Given the description of an element on the screen output the (x, y) to click on. 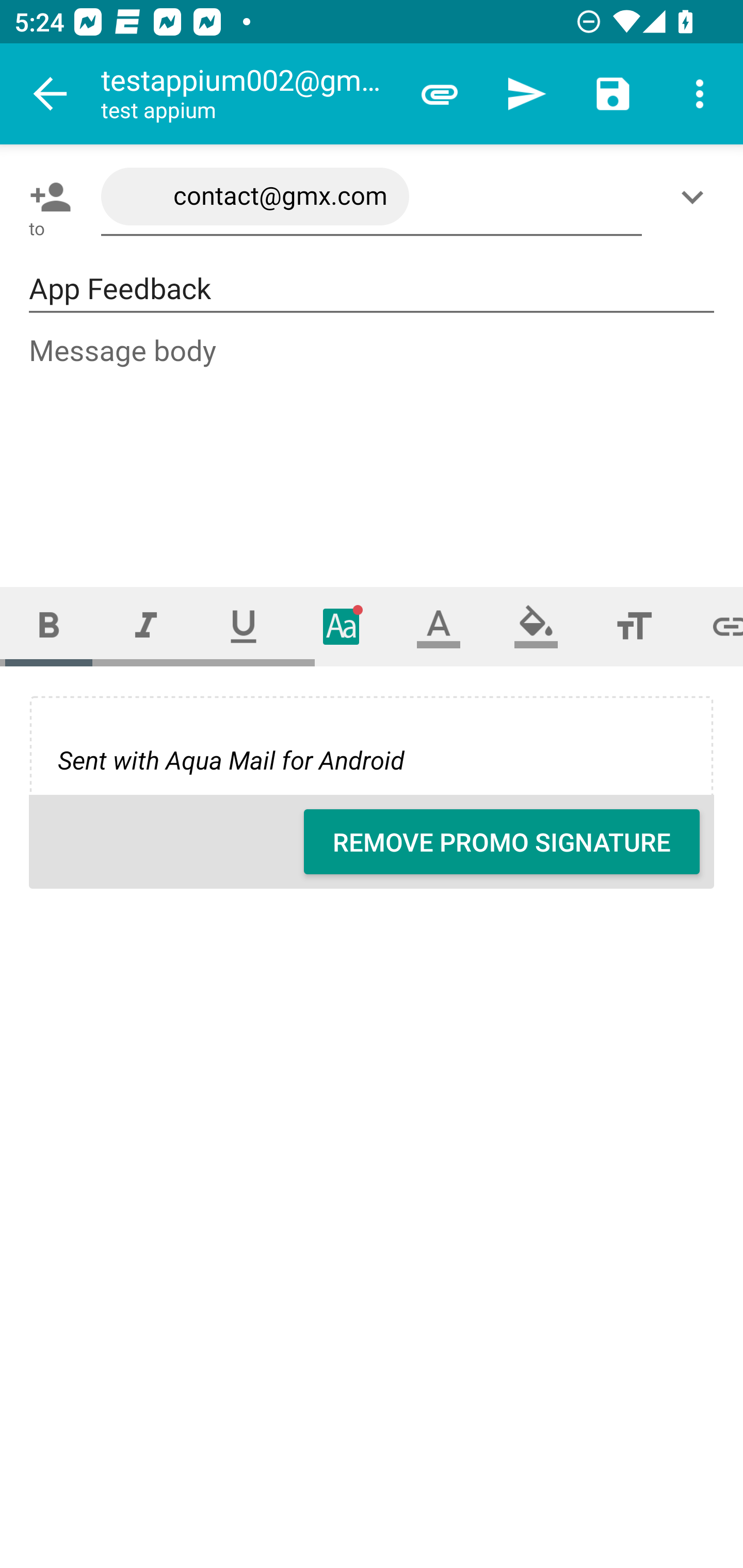
Navigate up (50, 93)
testappium002@gmail.com test appium (248, 93)
Attach (439, 93)
Send (525, 93)
Save (612, 93)
More options (699, 93)
contact@gmx.com,  (371, 197)
Pick contact: To (46, 196)
Show/Add CC/BCC (696, 196)
App Feedback (371, 288)
Message body (372, 442)
Bold (48, 626)
Italic (145, 626)
Underline (243, 626)
Typeface (font) (341, 626)
Text color (438, 626)
Fill color (536, 626)
Font size (633, 626)
Set link (712, 626)
REMOVE PROMO SIGNATURE (501, 841)
